Given the description of an element on the screen output the (x, y) to click on. 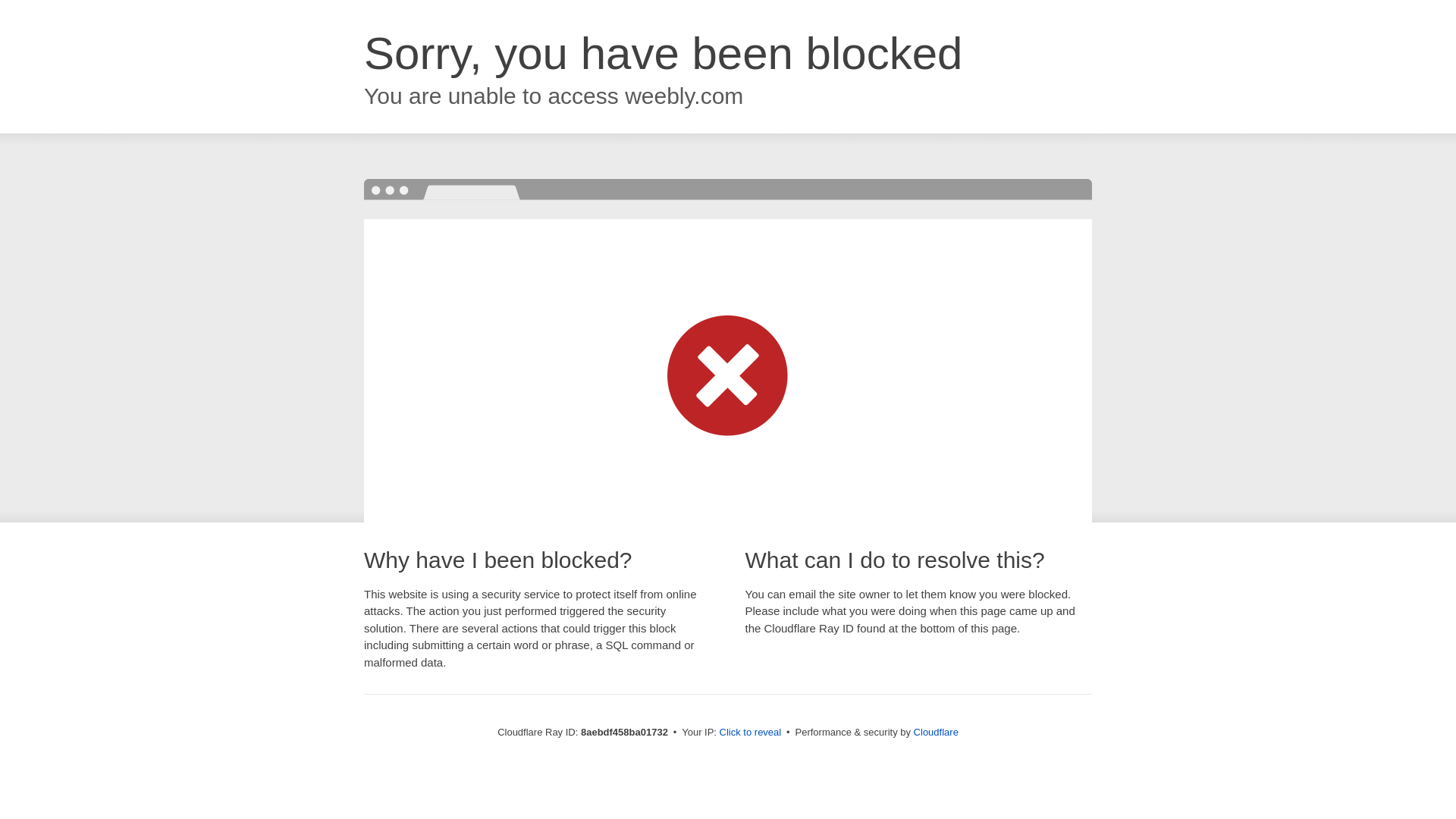
Click to reveal (750, 732)
Cloudflare (936, 731)
